Given the description of an element on the screen output the (x, y) to click on. 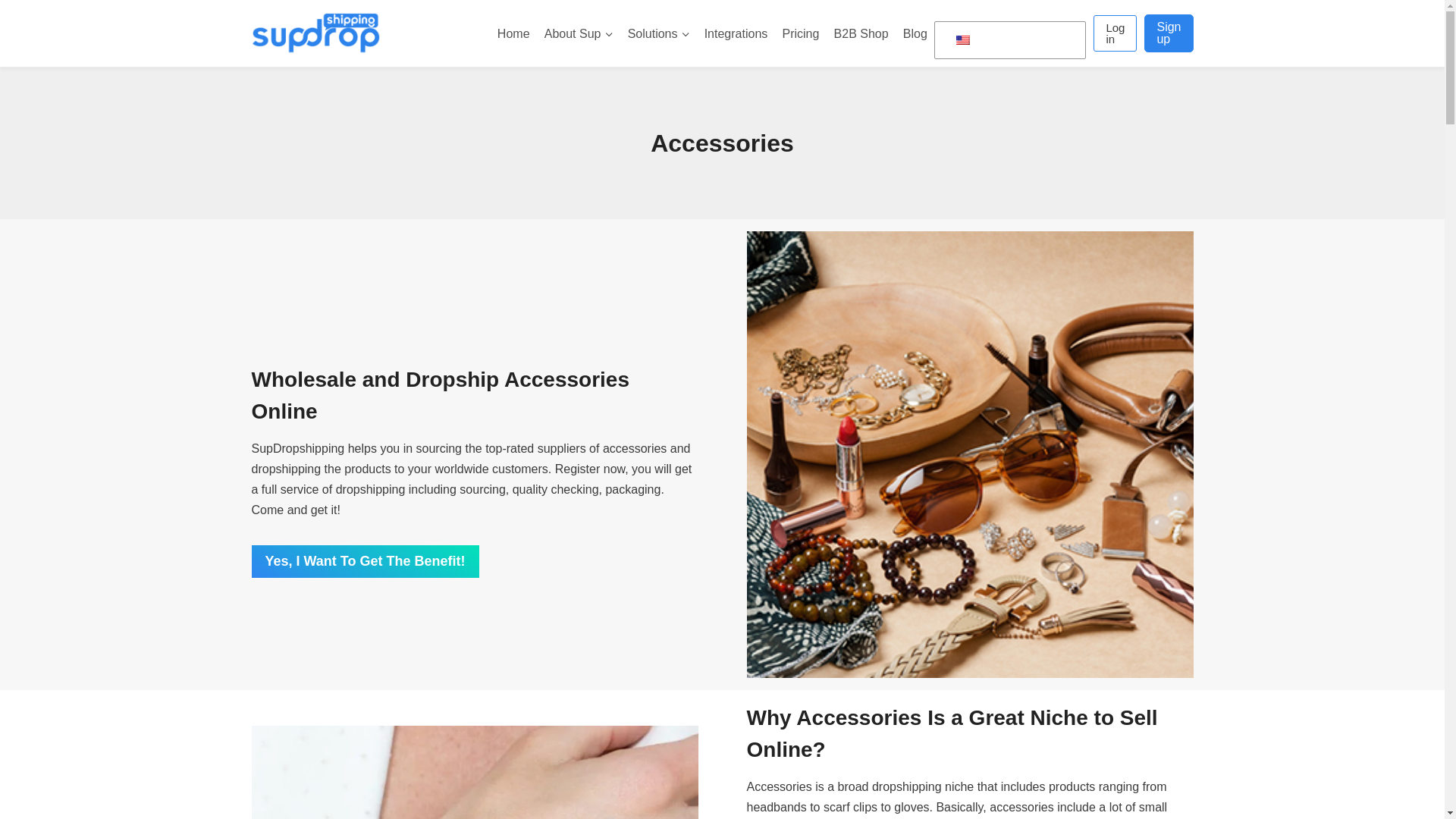
English (962, 40)
B2B Shop (861, 33)
English (1007, 40)
Solutions (658, 33)
Log in (1115, 33)
About Sup (578, 33)
Yes, I Want To Get The Benefit! (365, 561)
Sign up (1168, 33)
Integrations (735, 33)
